Given the description of an element on the screen output the (x, y) to click on. 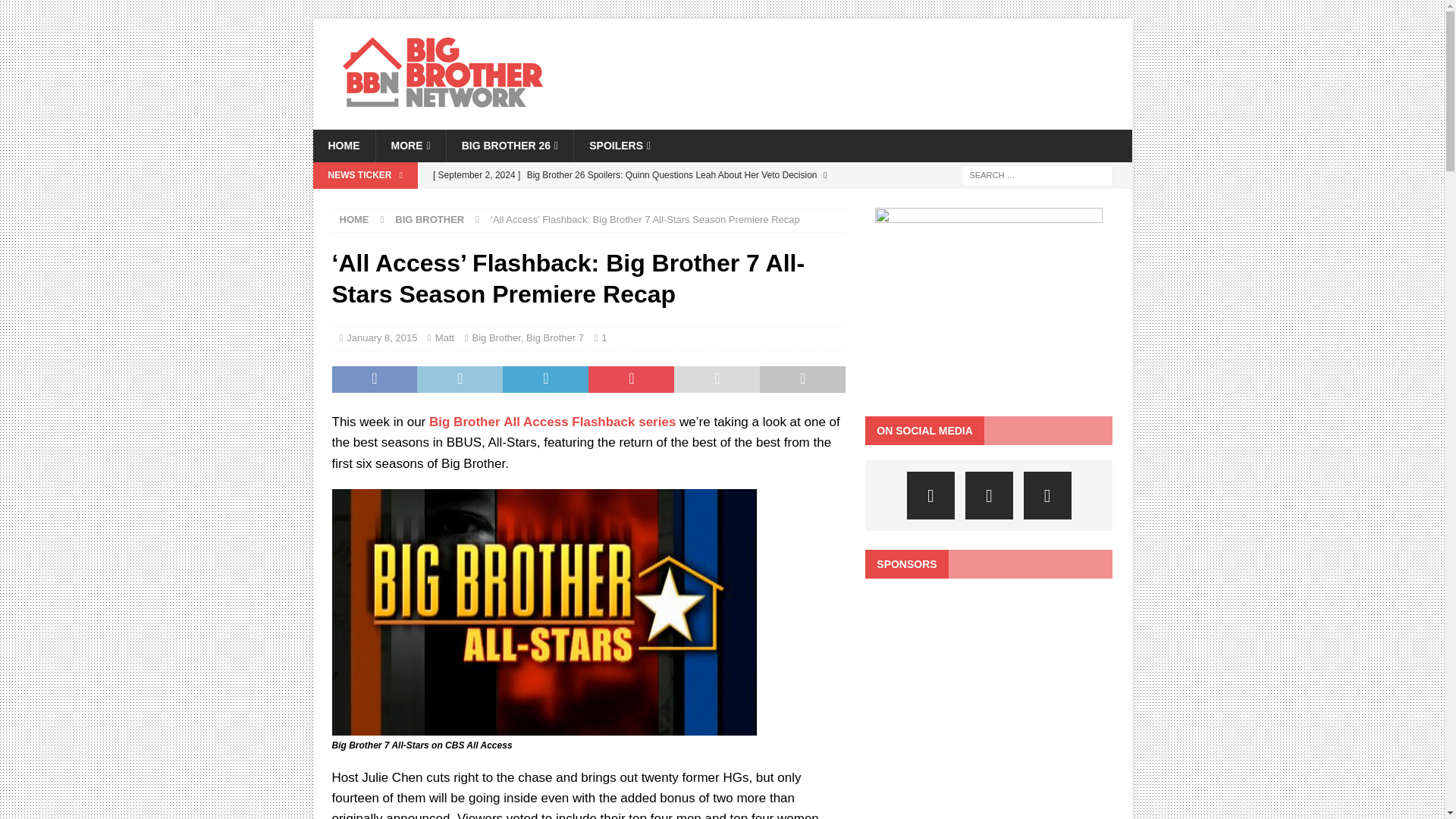
HOME (343, 145)
MORE (409, 145)
BIG BROTHER 26 (509, 145)
